Given the description of an element on the screen output the (x, y) to click on. 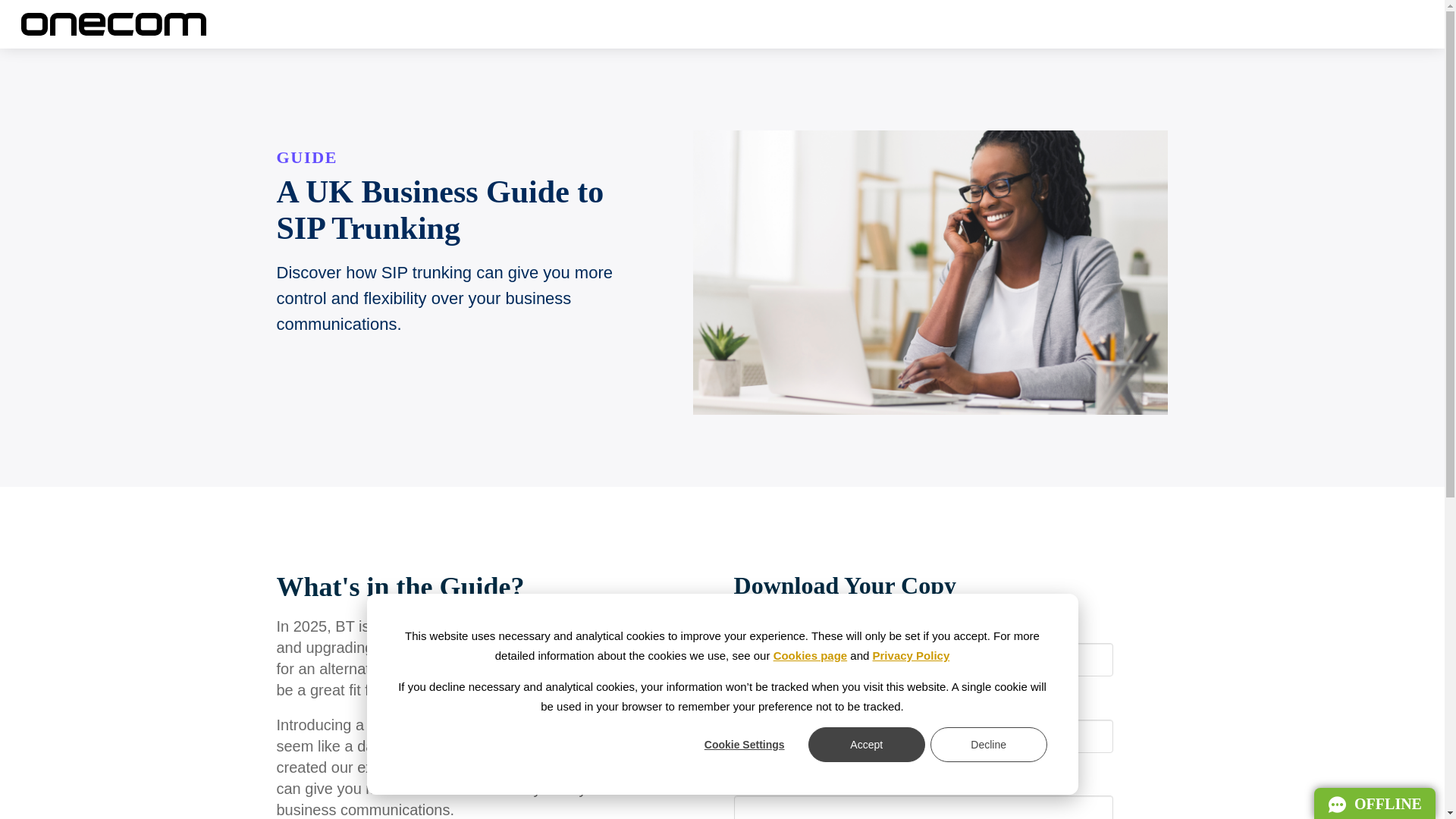
Onecom Experts in Business Communication (1374, 803)
